Given the description of an element on the screen output the (x, y) to click on. 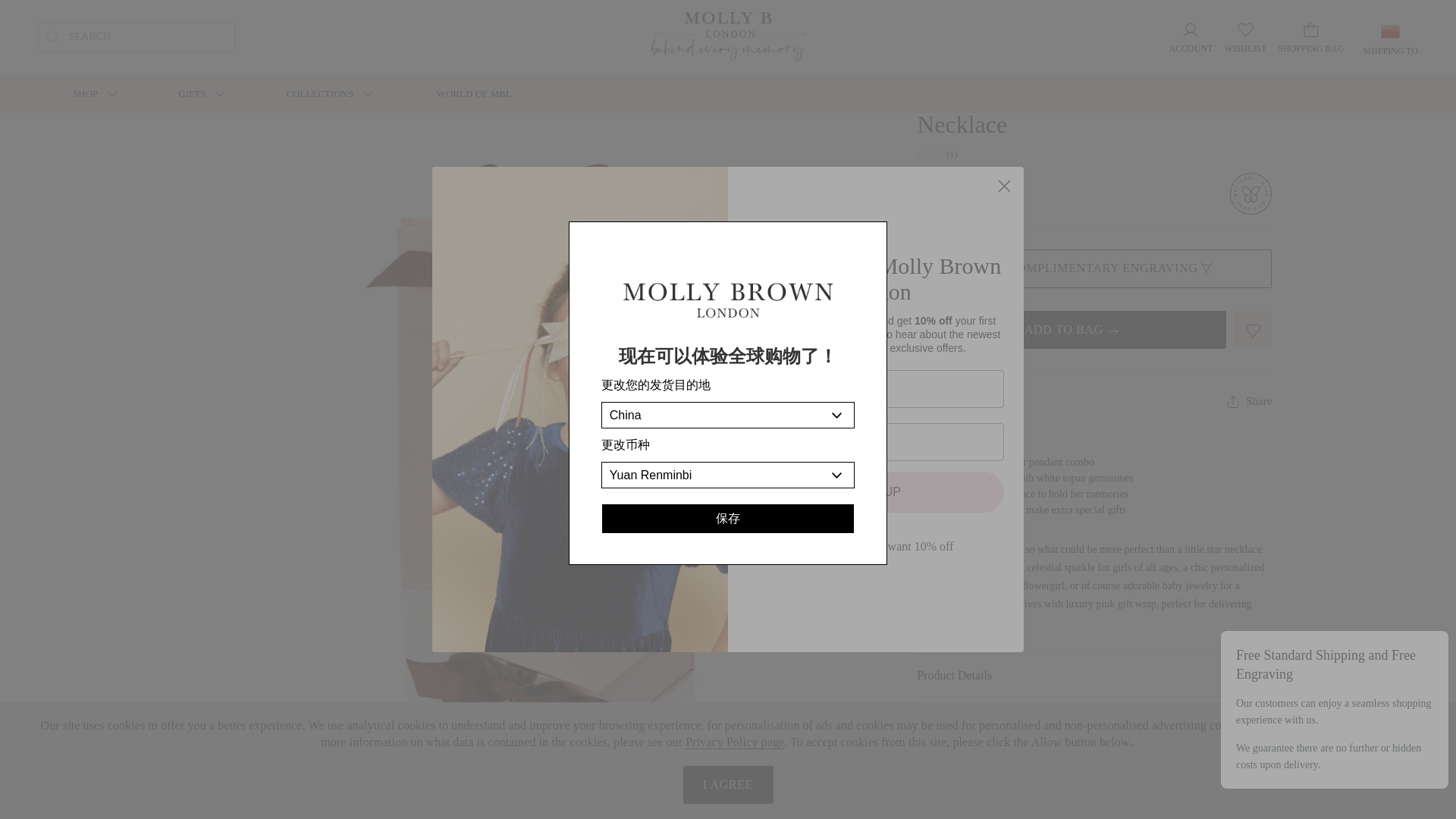
Personalized My Little Star Disc Necklace (357, 49)
